Given the description of an element on the screen output the (x, y) to click on. 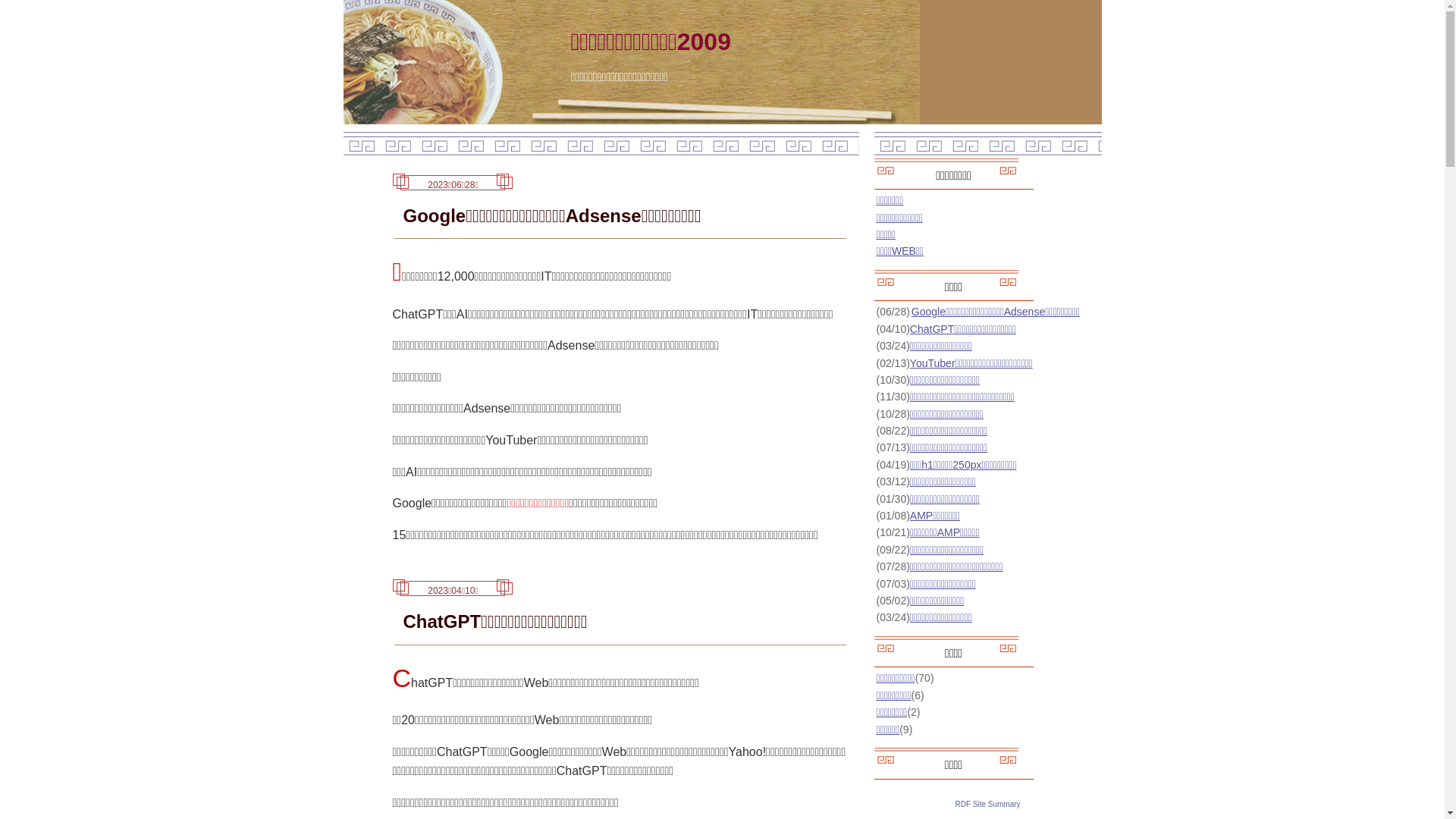
RDF Site Summary Element type: text (986, 803)
